Given the description of an element on the screen output the (x, y) to click on. 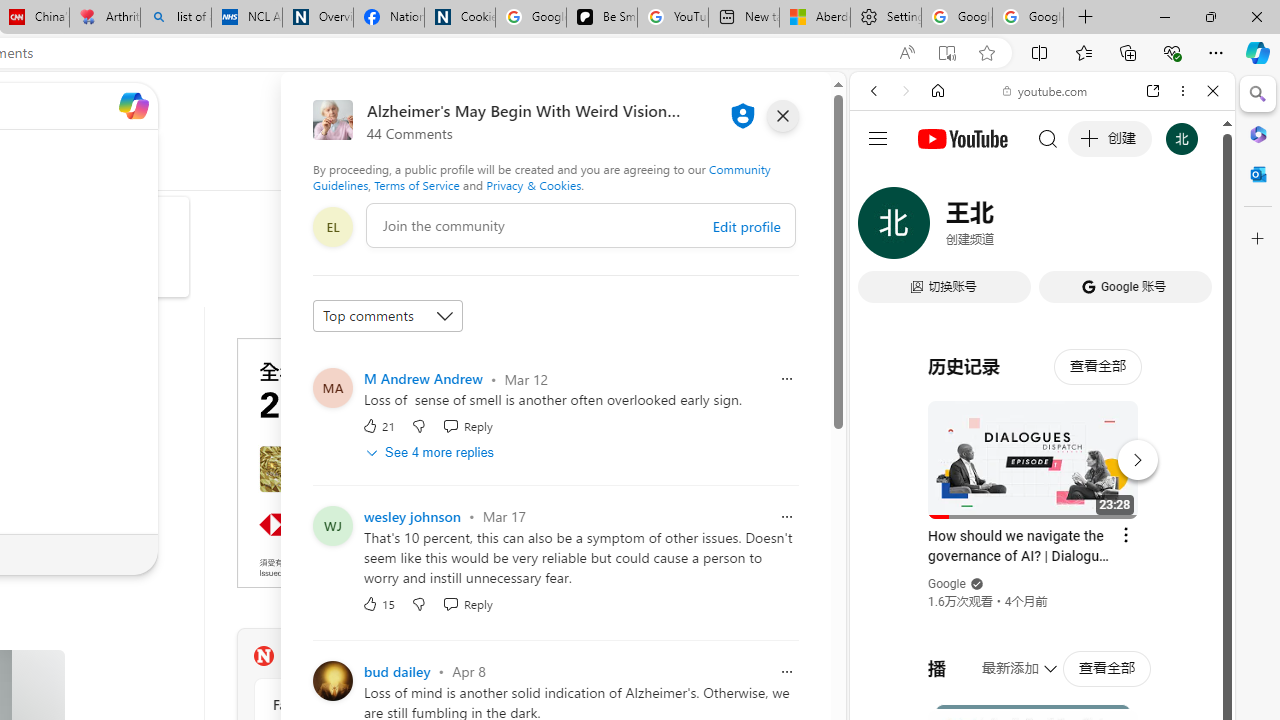
Profile Picture (333, 680)
Enter Immersive Reader (F9) (946, 53)
Be Smart | creating Science videos | Patreon (602, 17)
wesley johnson (411, 516)
Open settings (786, 105)
SEARCH TOOLS (1093, 228)
Search Filter, VIDEOS (1006, 228)
